Given the description of an element on the screen output the (x, y) to click on. 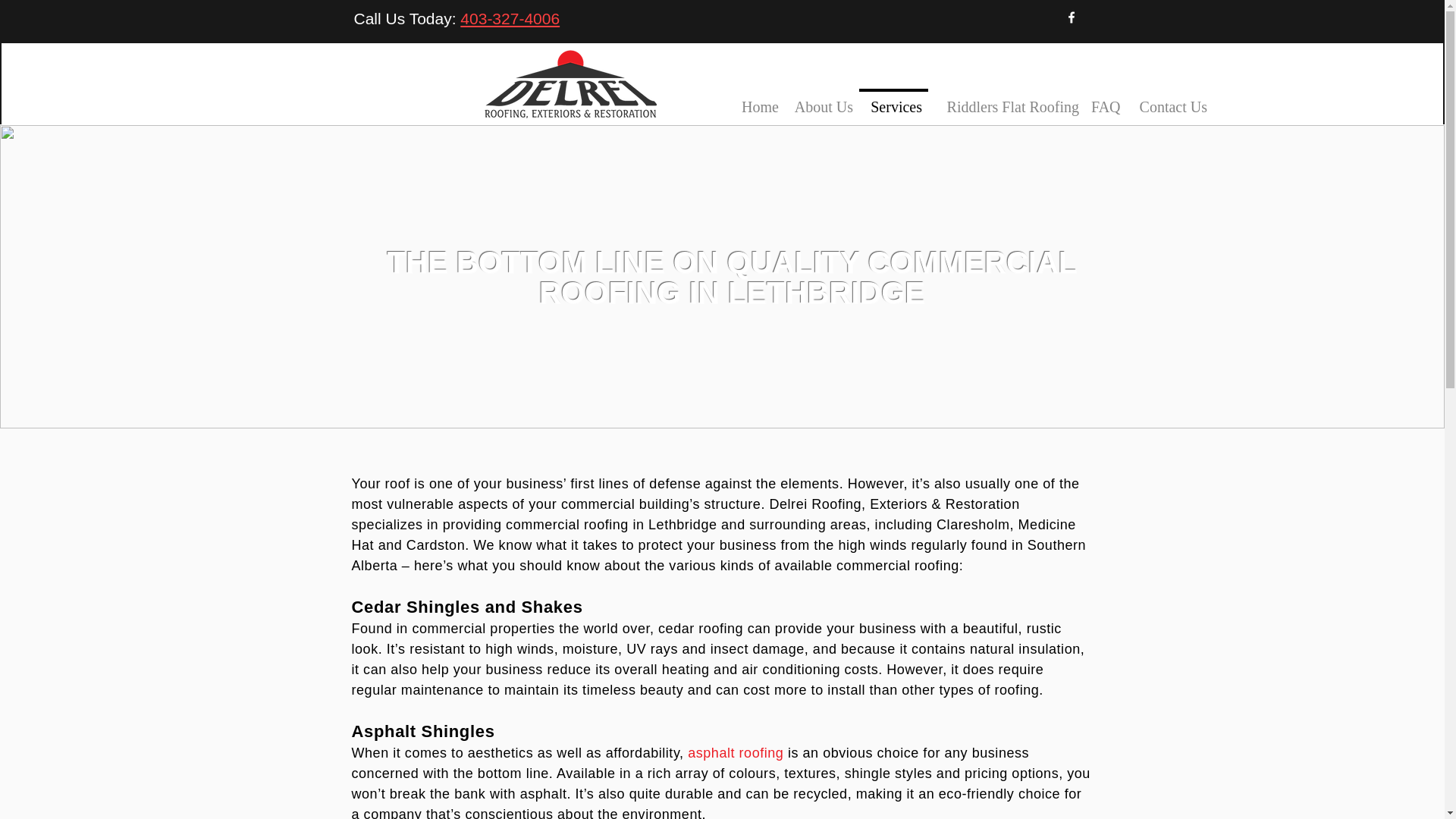
Contact Us (1168, 99)
Services (893, 99)
Riddlers Flat Roofing (1006, 99)
FAQ (1104, 99)
asphalt roofing (735, 752)
403-327-4006 (509, 18)
Home (758, 99)
About Us (821, 99)
